Given the description of an element on the screen output the (x, y) to click on. 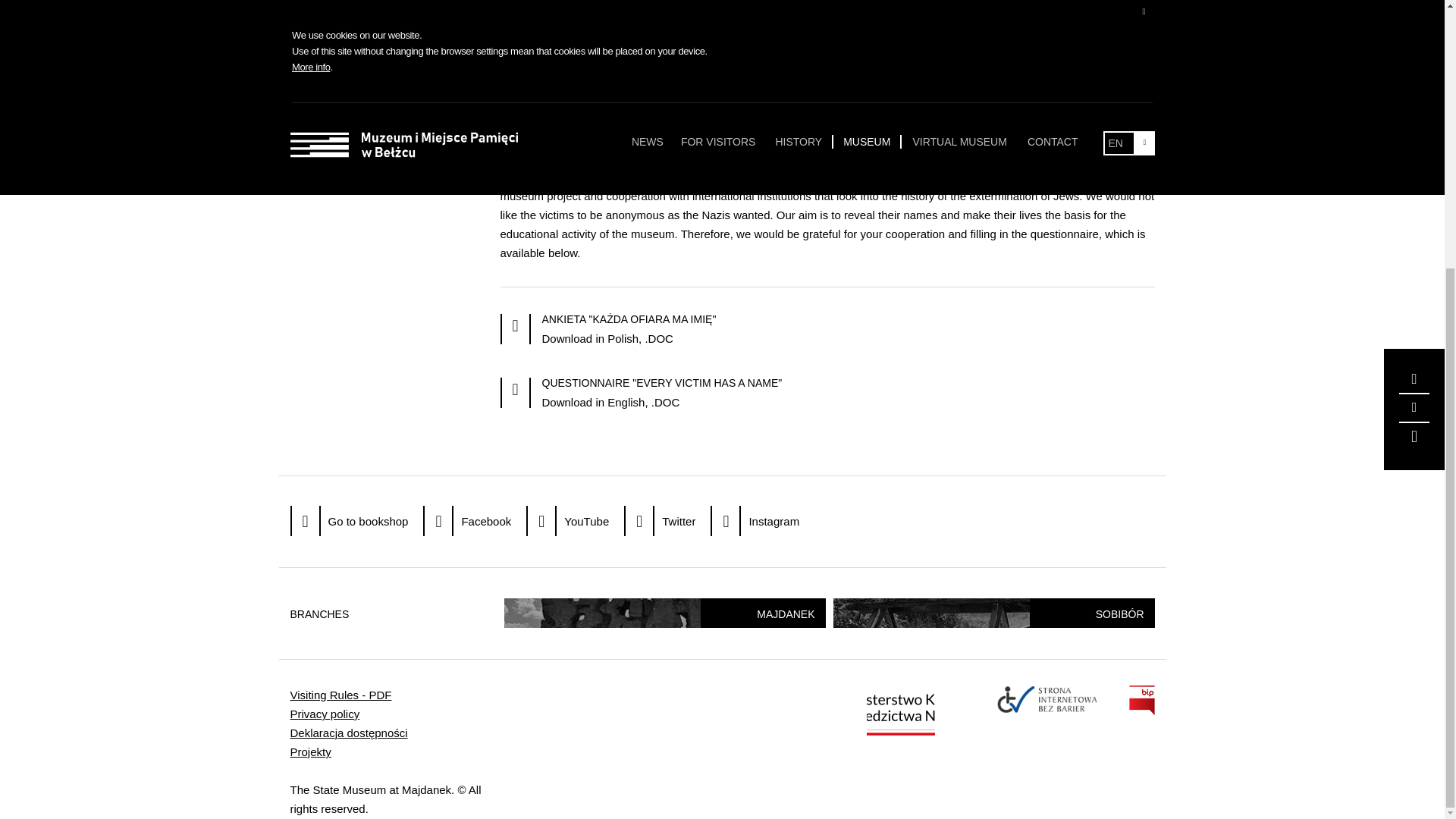
Sitemap (1414, 45)
Change contrast (1414, 17)
Enlarge the font size (1414, 2)
BIP (1141, 710)
